Given the description of an element on the screen output the (x, y) to click on. 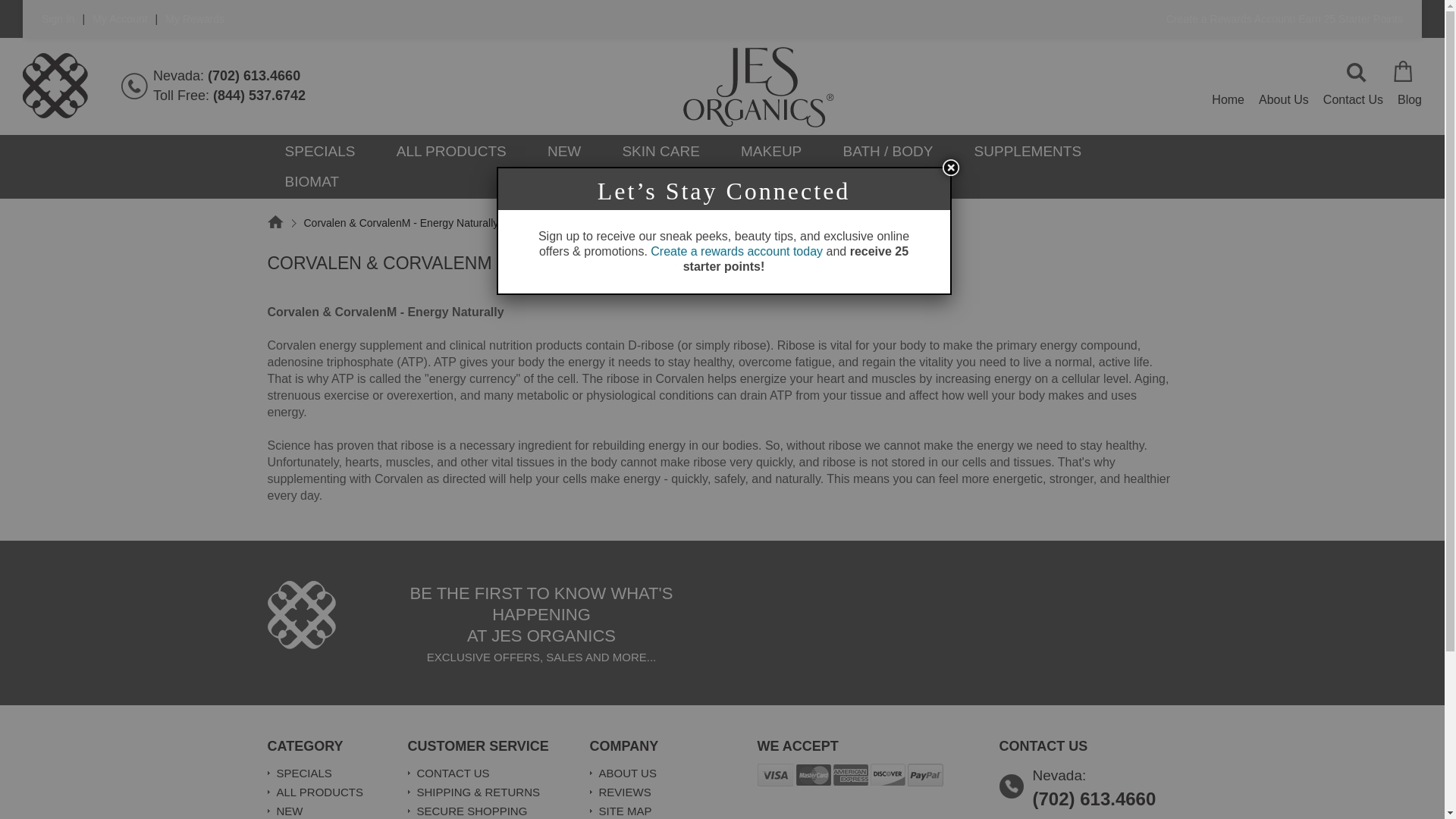
Jescollection.com (55, 85)
Payment (850, 774)
Jescollection.com (300, 614)
Jescollection.com (758, 86)
Search (1356, 72)
